Given the description of an element on the screen output the (x, y) to click on. 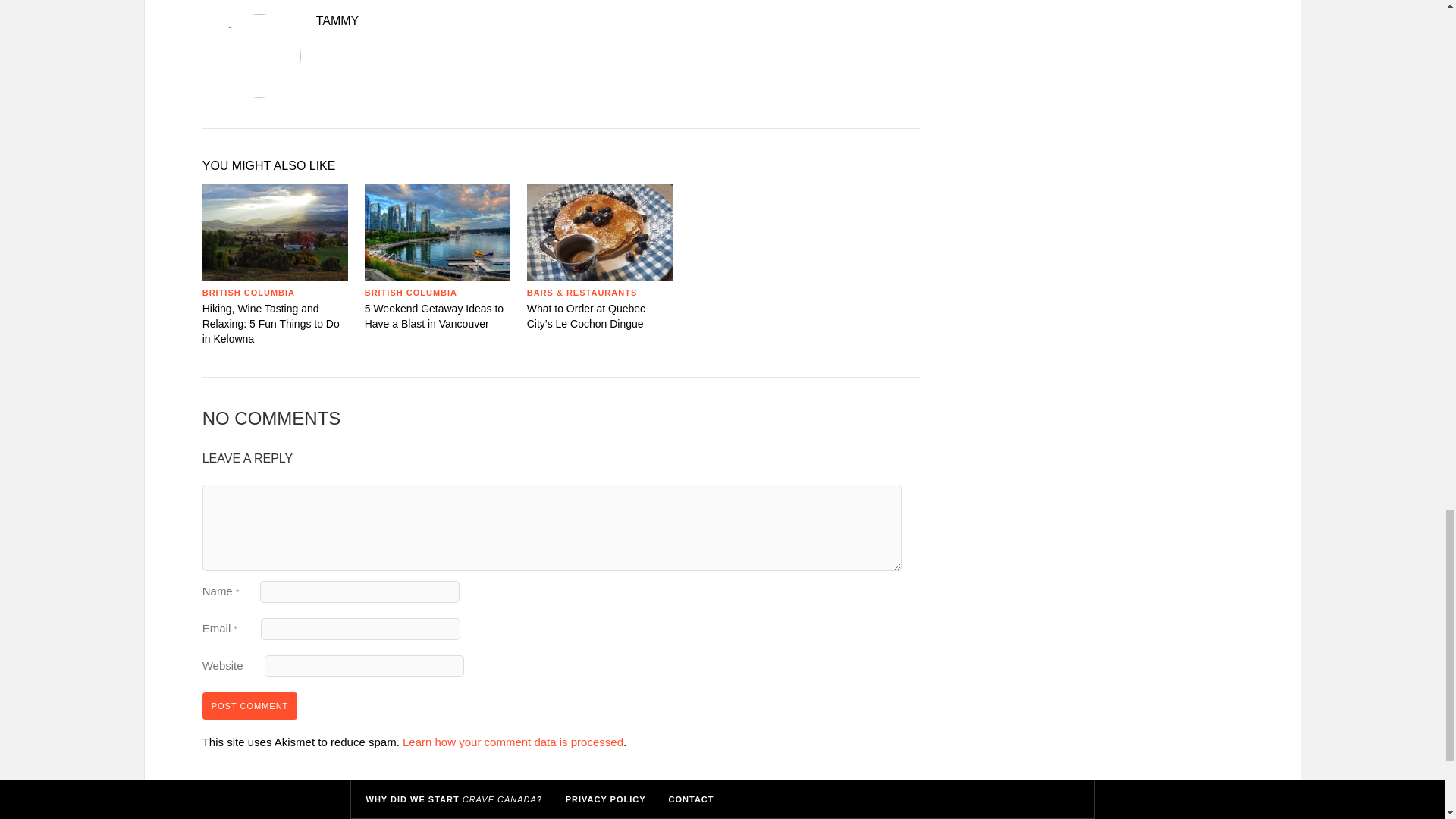
Post comment (250, 705)
TAMMY (560, 20)
BRITISH COLUMBIA (248, 292)
Posts by Tammy (560, 20)
